Given the description of an element on the screen output the (x, y) to click on. 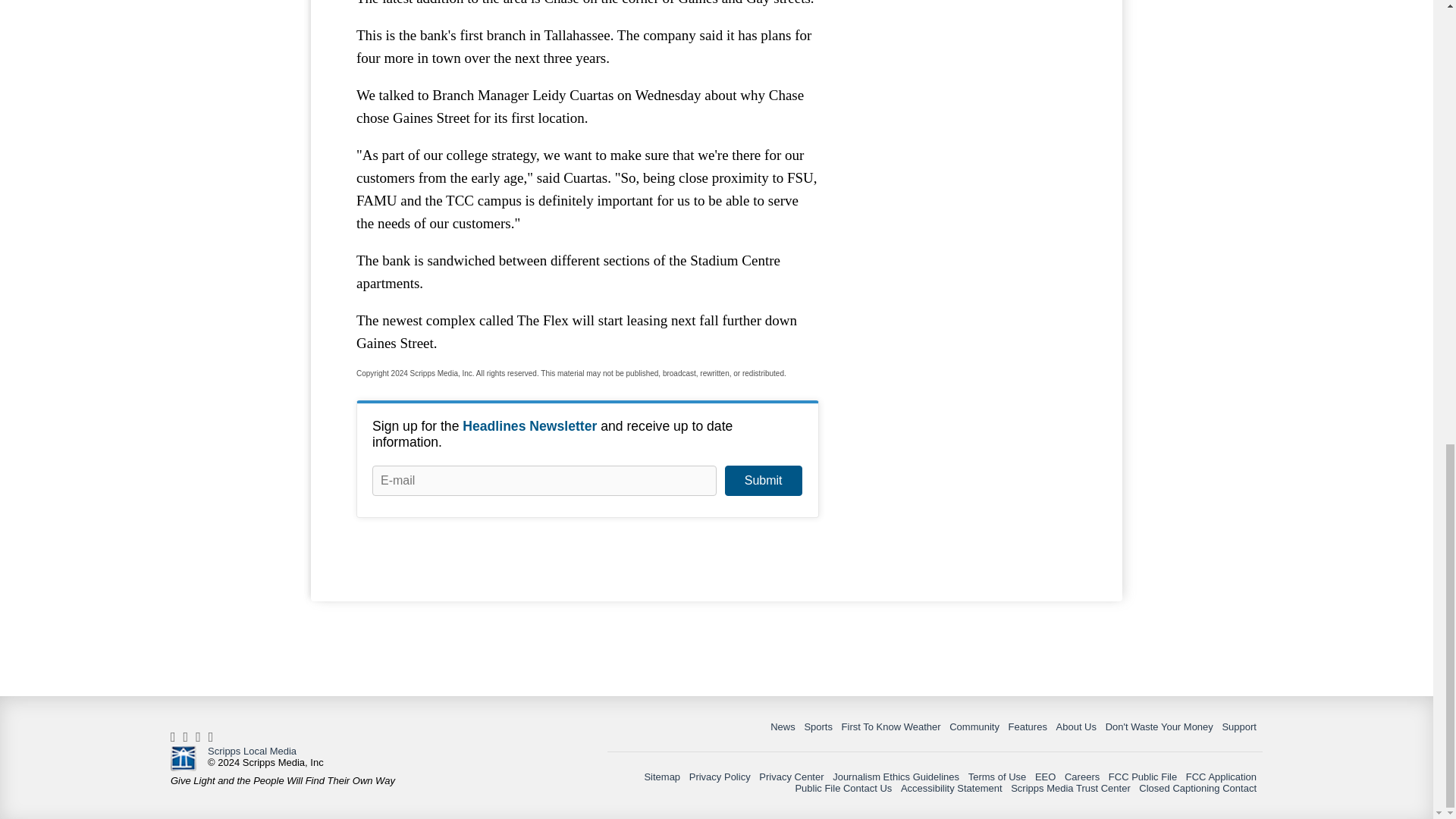
Submit (763, 481)
